Given the description of an element on the screen output the (x, y) to click on. 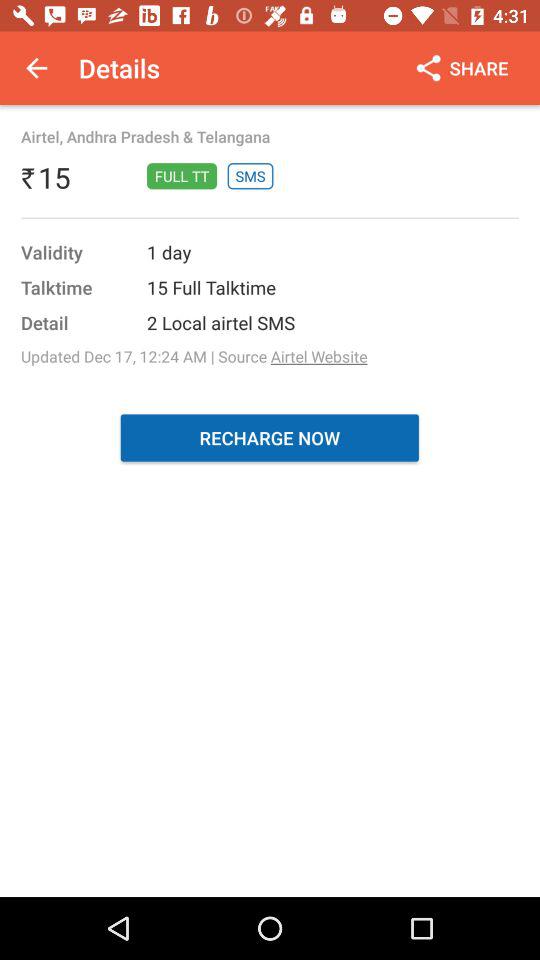
flip until share icon (460, 67)
